Given the description of an element on the screen output the (x, y) to click on. 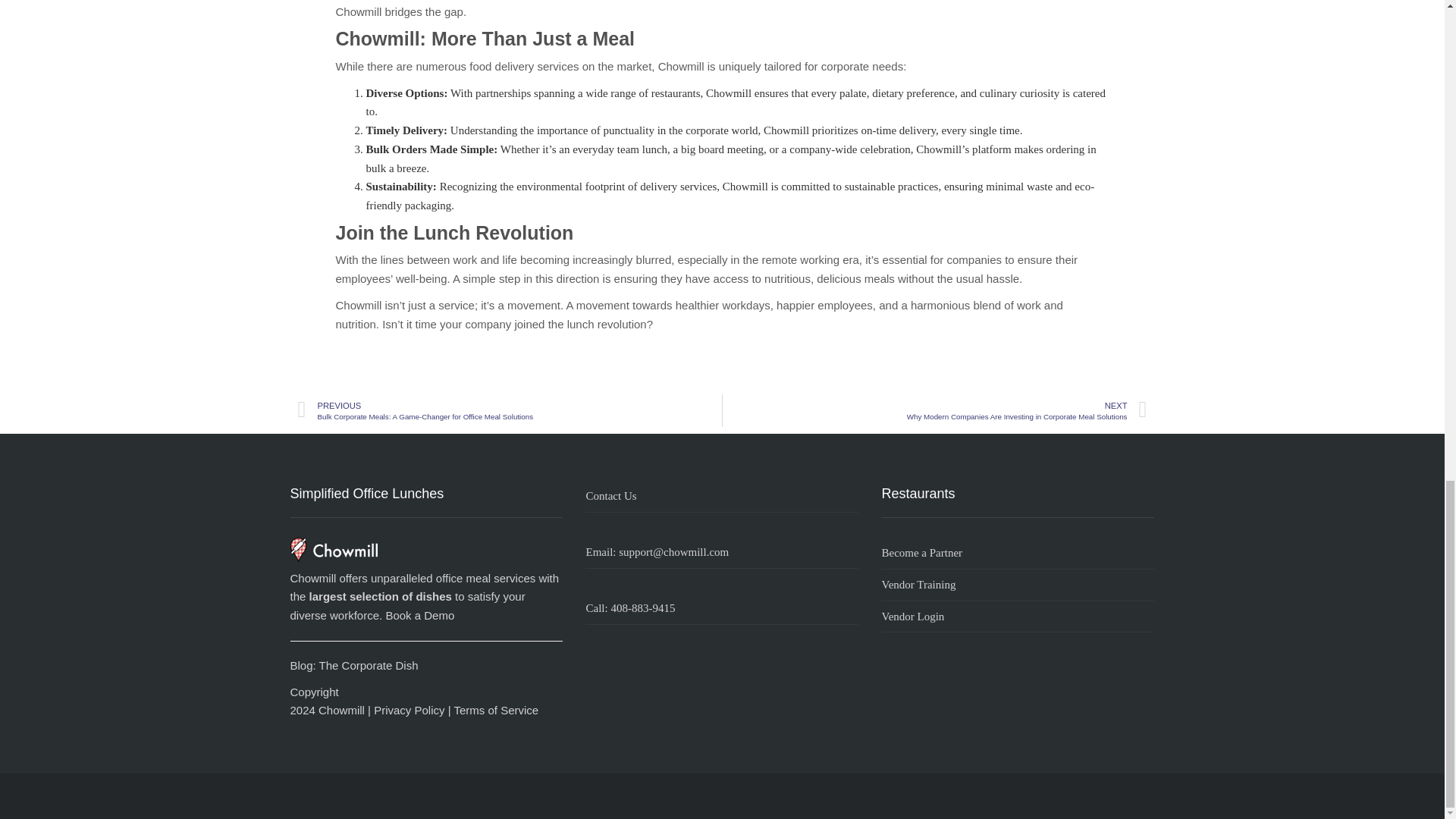
Terms of Service (495, 709)
Become a Partner (1017, 553)
Vendor Training (1017, 585)
Blog: The Corporate Dish (353, 665)
Privacy Policy (409, 709)
Vendor Login (1017, 617)
Book a Demo (419, 615)
